Given the description of an element on the screen output the (x, y) to click on. 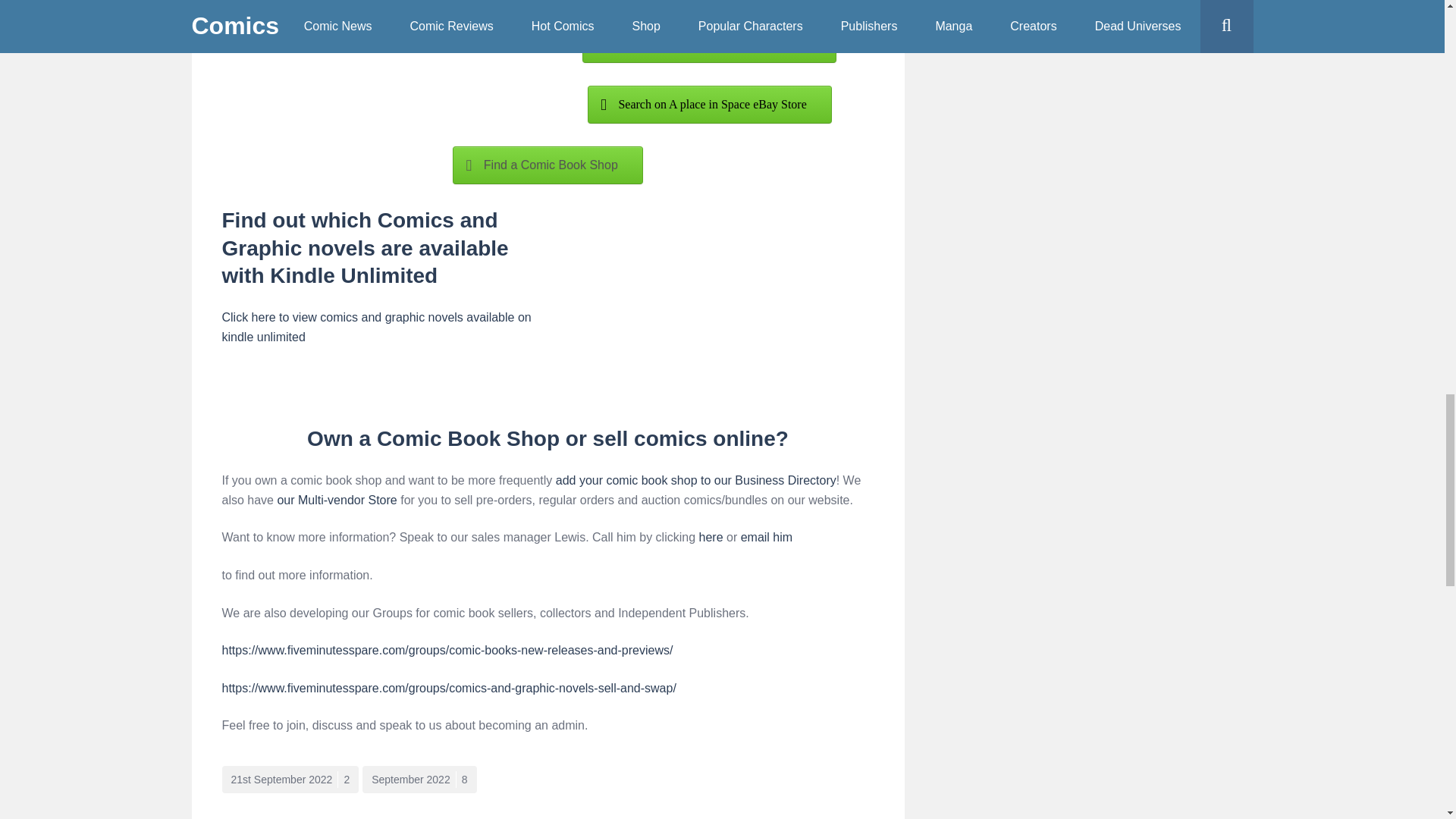
Search for the Comic on Amazon Kindle (708, 44)
